Given the description of an element on the screen output the (x, y) to click on. 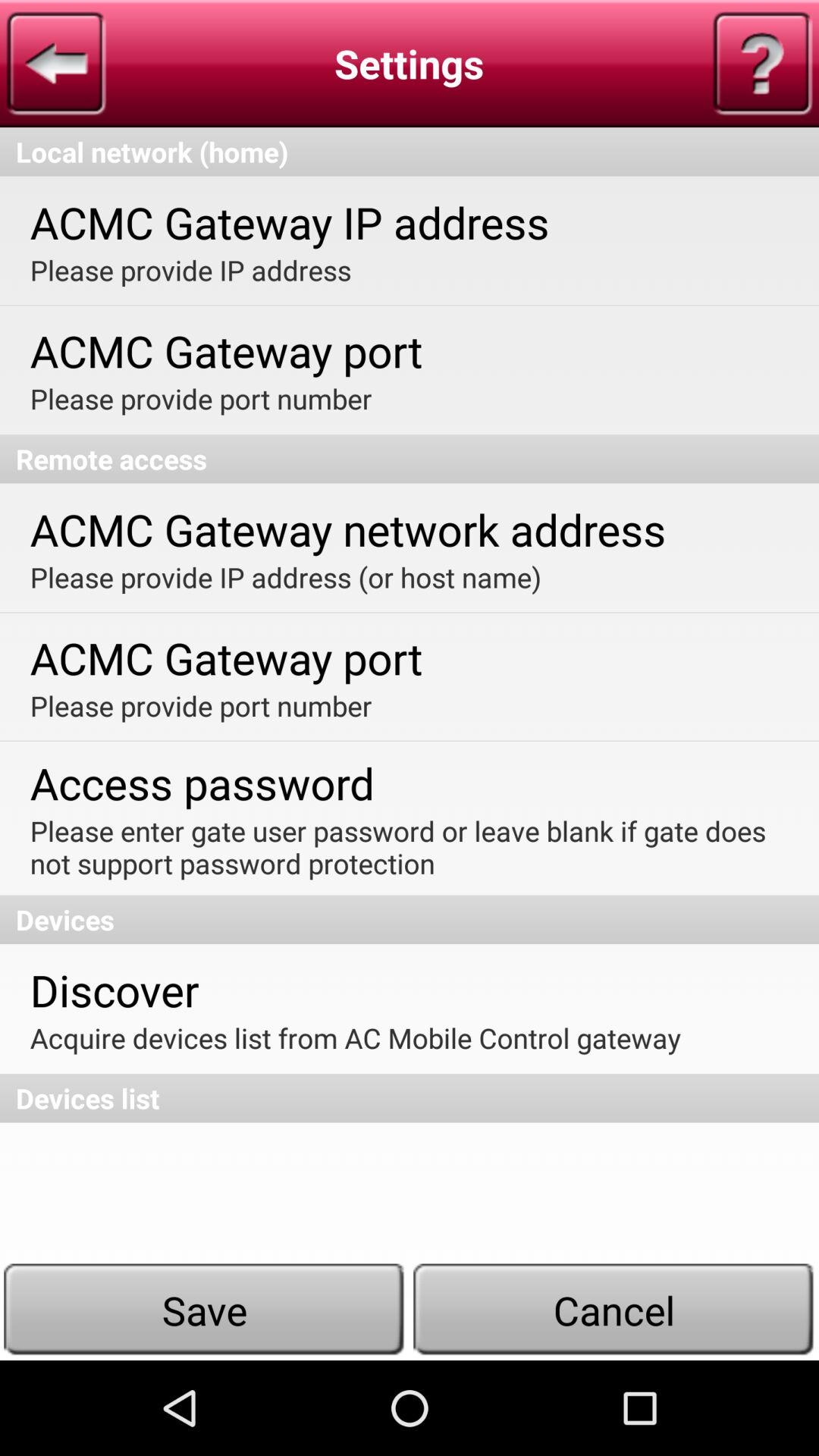
click on icon on the right side of settings (762, 63)
click on the button which is next to the save (613, 1309)
click on the button which is left side of the cancel (204, 1309)
click on the button which is on the left of settings (55, 63)
select the icon on the top right corner of the web page (762, 62)
